Given the description of an element on the screen output the (x, y) to click on. 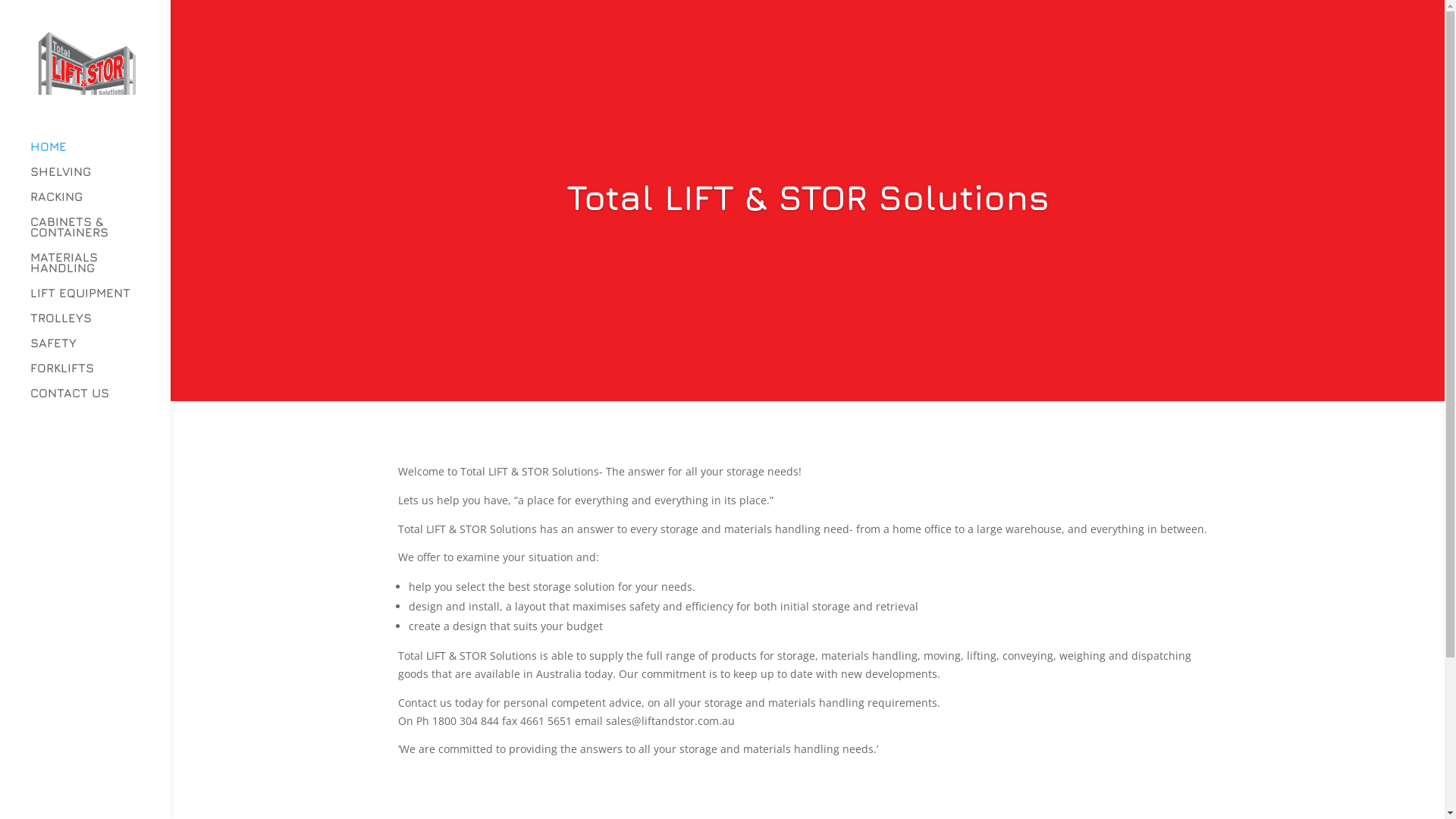
SAFETY Element type: text (100, 349)
RACKING Element type: text (100, 203)
FORKLIFTS Element type: text (100, 374)
SHELVING Element type: text (100, 178)
MATERIALS HANDLING Element type: text (100, 269)
TROLLEYS Element type: text (100, 324)
CONTACT US Element type: text (100, 399)
CABINETS & CONTAINERS Element type: text (100, 233)
LIFT EQUIPMENT Element type: text (100, 299)
HOME Element type: text (100, 153)
